Given the description of an element on the screen output the (x, y) to click on. 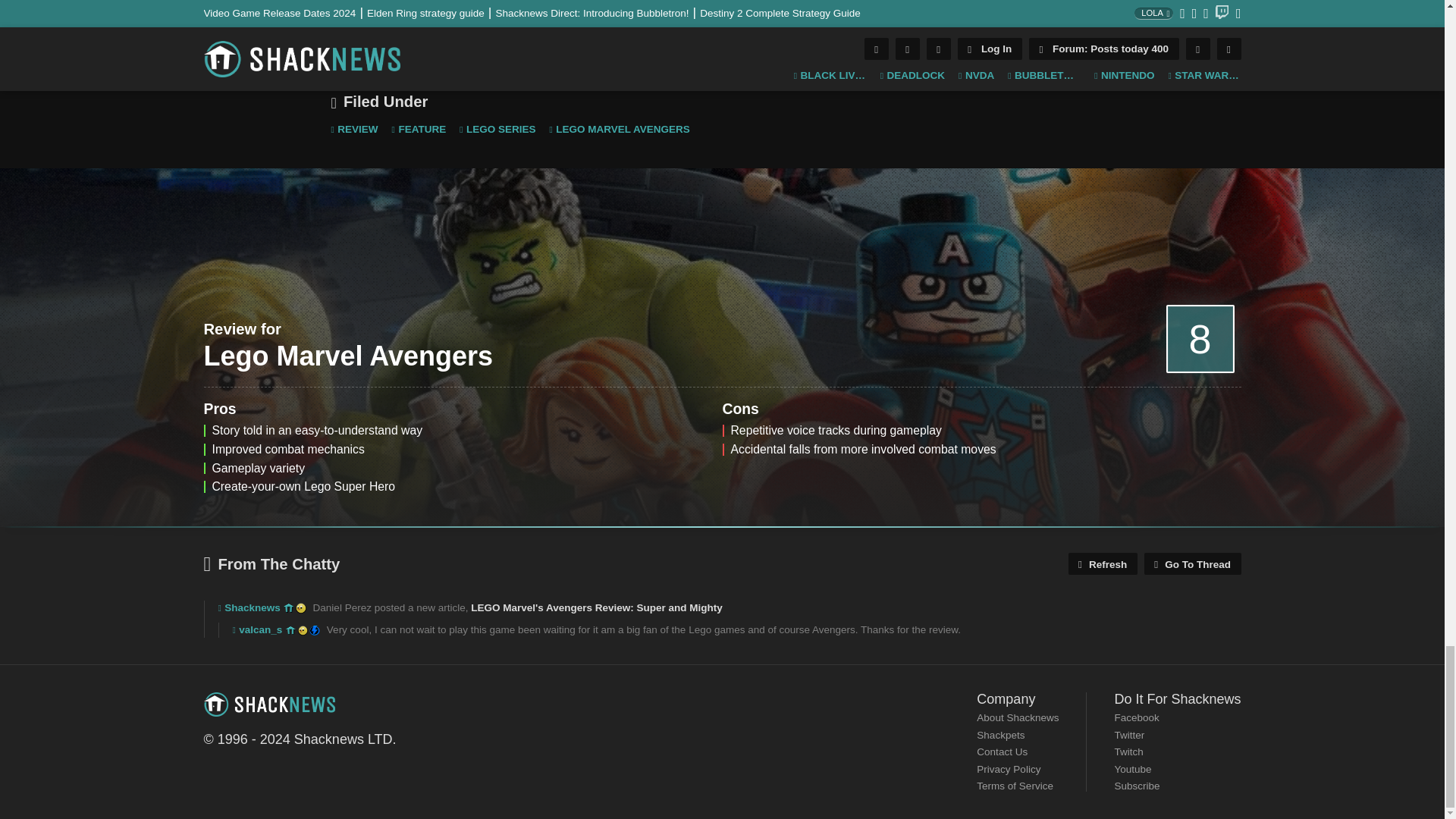
legacy 10 years (288, 607)
legacy 20 years (300, 607)
legacy 10 years (291, 630)
mercury super mega (314, 630)
legacy 20 years (303, 630)
